Given the description of an element on the screen output the (x, y) to click on. 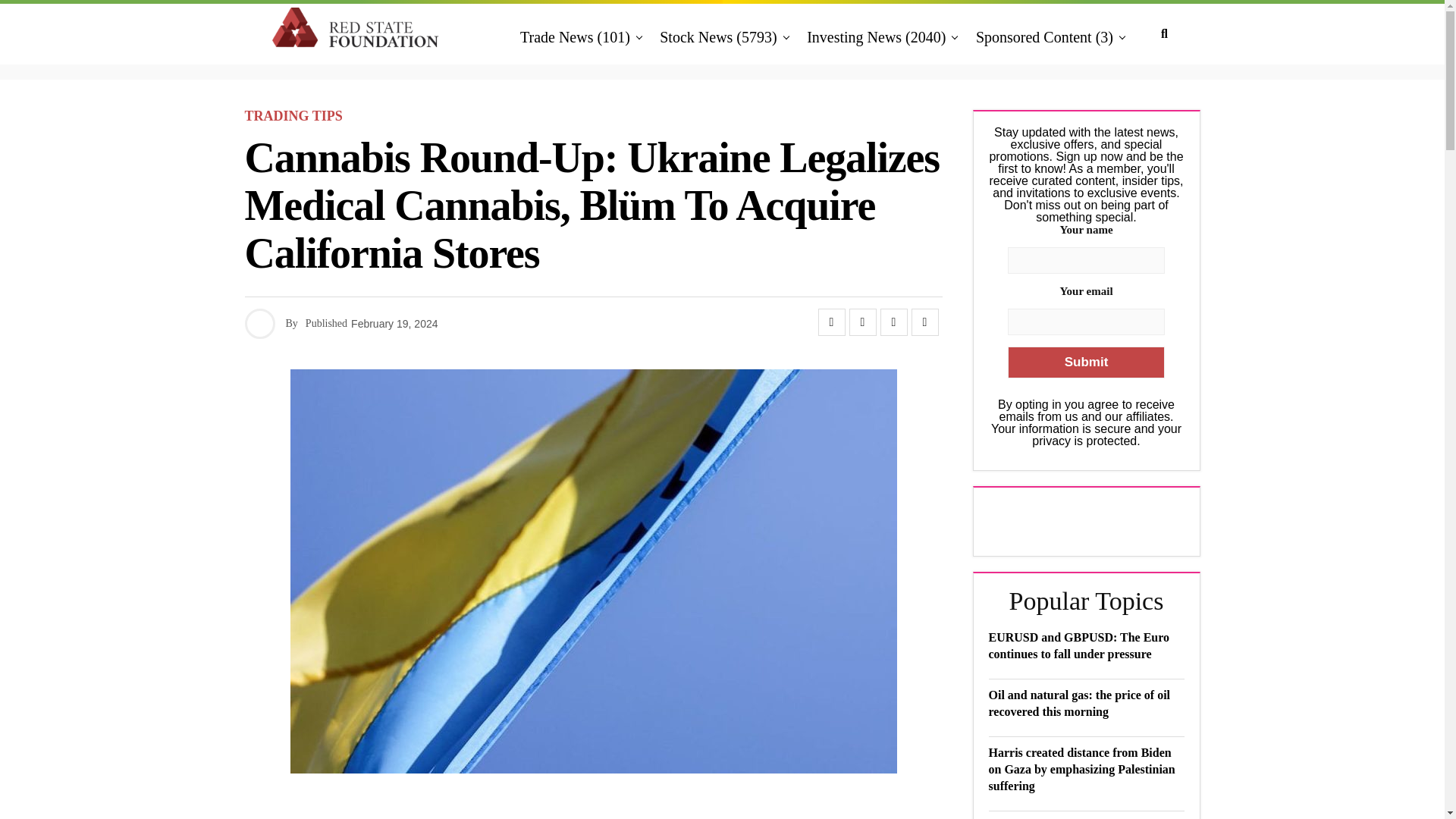
Tweet This Post (862, 321)
EURUSD and GBPUSD: The Euro continues to fall under pressure (1079, 645)
Submit (1085, 362)
Oil and natural gas: the price of oil recovered this morning (1079, 703)
Share on Facebook (830, 321)
TRADING TIPS (293, 115)
Submit (1085, 362)
